Given the description of an element on the screen output the (x, y) to click on. 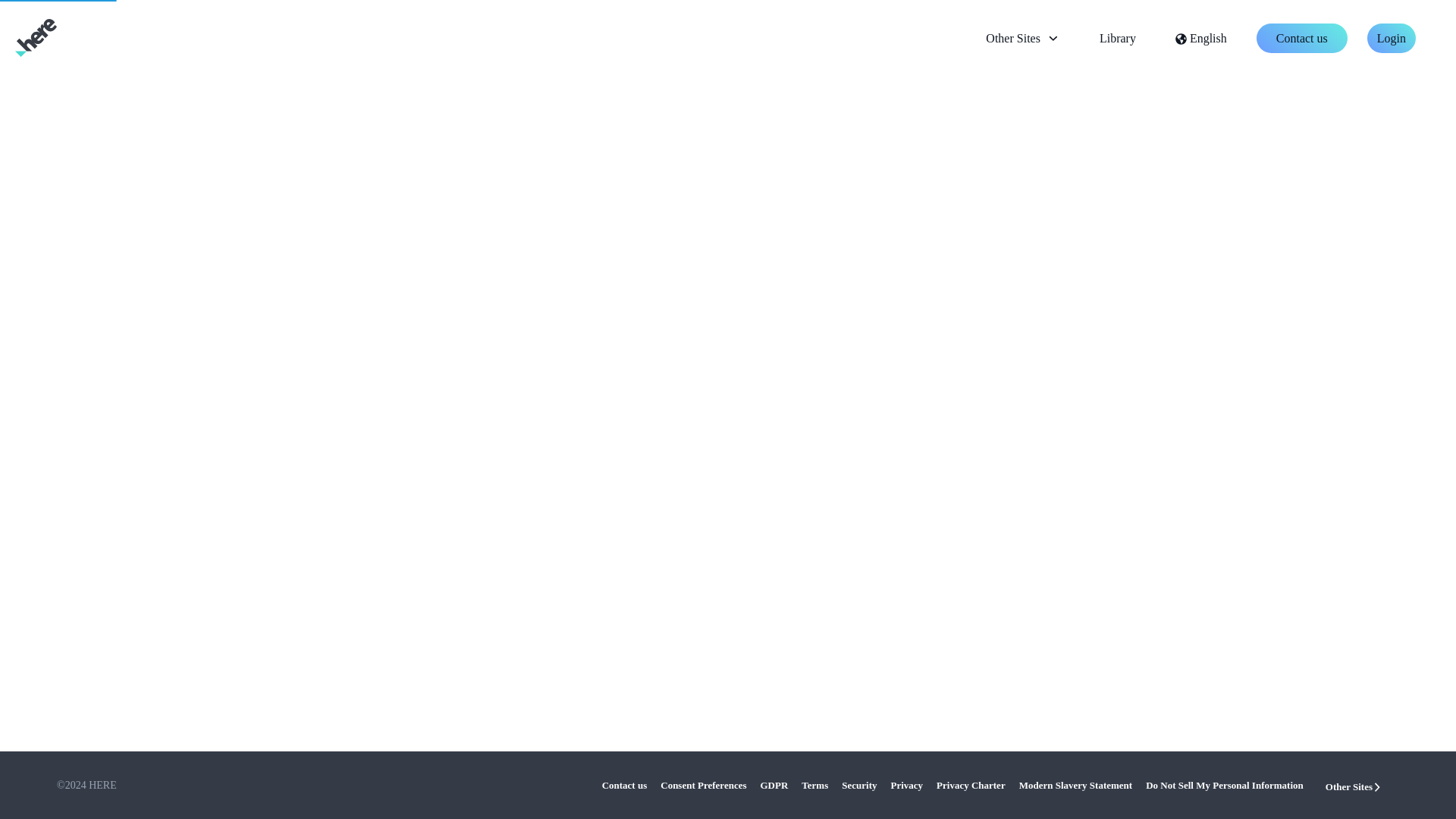
Contact us (1302, 37)
Contact us (624, 785)
Privacy (903, 785)
Do Not Sell My Personal Information (1221, 785)
Terms (811, 785)
Other Sites (1354, 785)
Library (1117, 37)
Modern Slavery Statement (1072, 785)
GDPR (770, 785)
Security (855, 785)
Privacy Charter (968, 785)
English (1201, 37)
Login (1391, 37)
Consent Preferences (699, 785)
Other Sites (1022, 37)
